Given the description of an element on the screen output the (x, y) to click on. 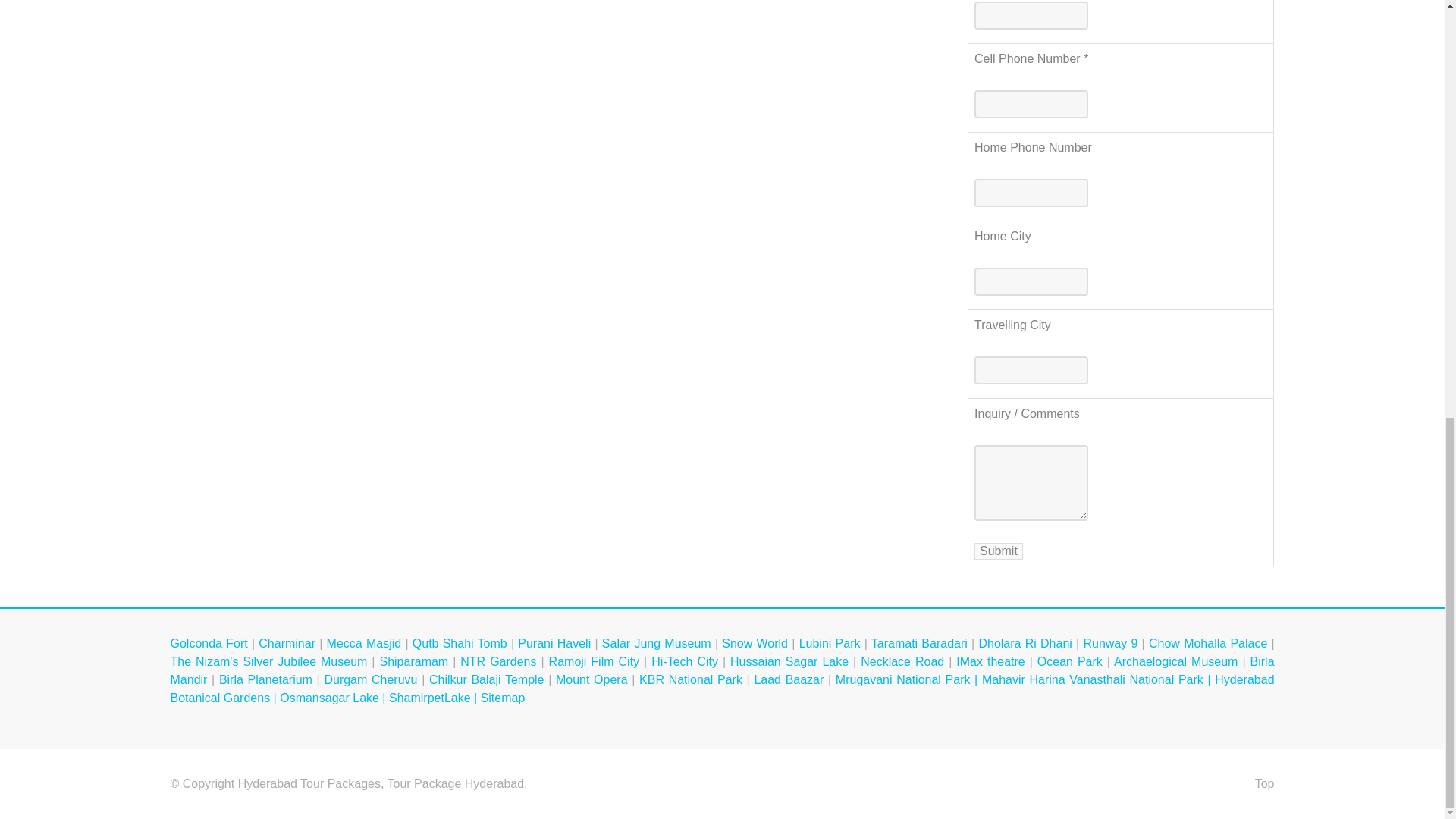
Submit (998, 550)
